Given the description of an element on the screen output the (x, y) to click on. 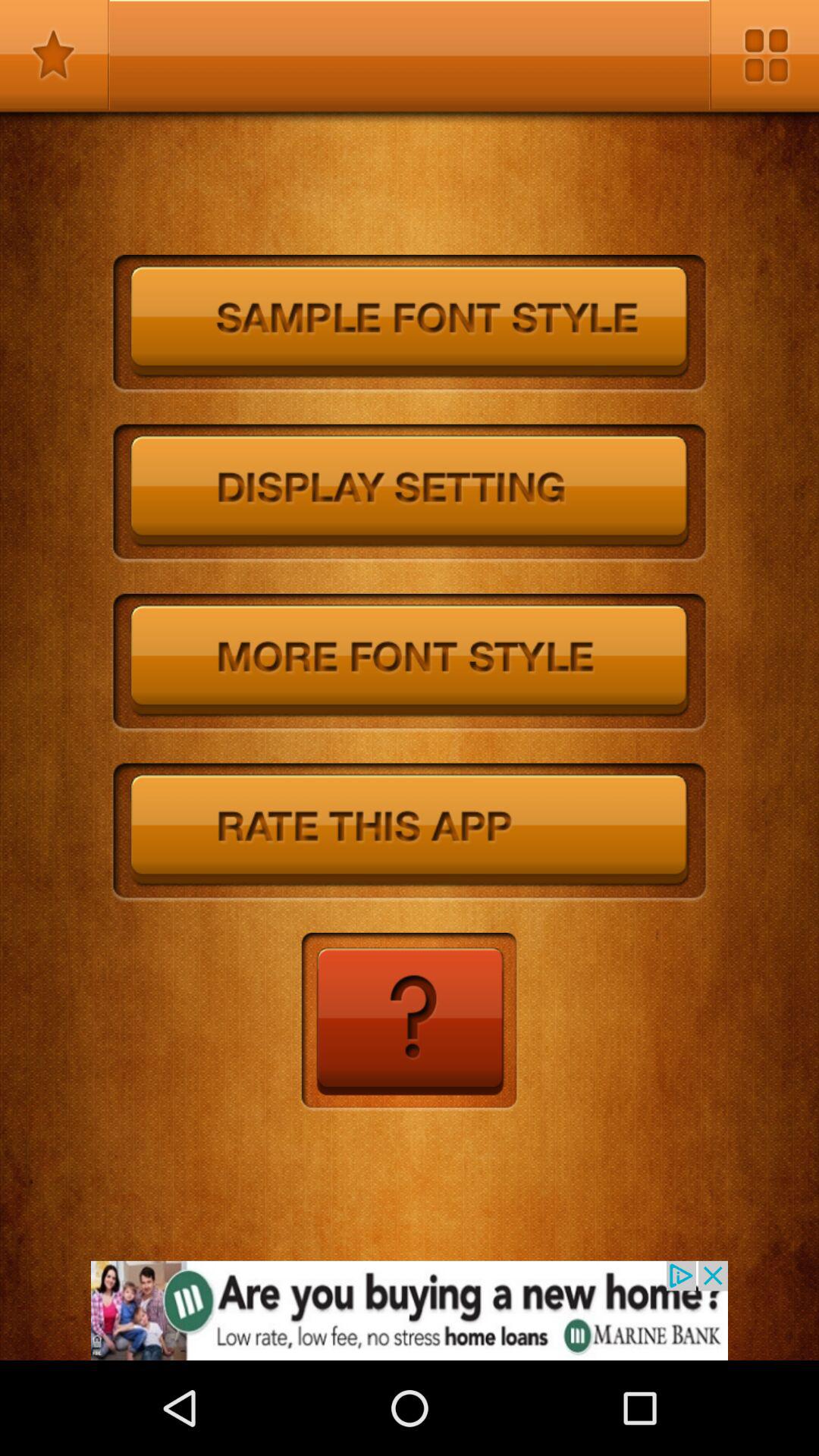
view additional font styles (409, 663)
